Given the description of an element on the screen output the (x, y) to click on. 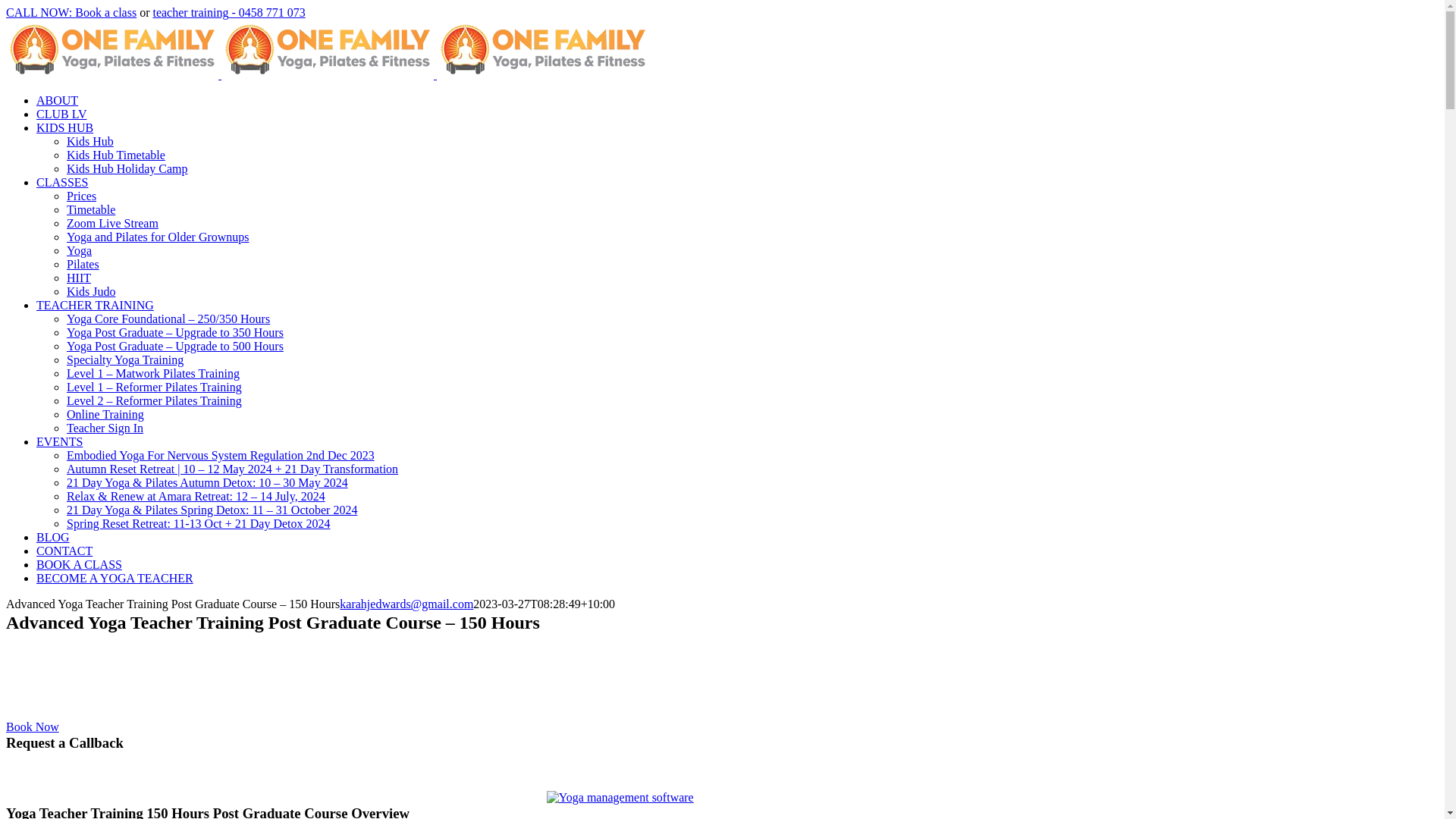
Kids Hub Timetable Element type: text (115, 154)
ABOUT Element type: text (57, 100)
Yoga Element type: text (78, 250)
Book Now Element type: text (32, 726)
Kids Hub Element type: text (89, 140)
Embodied Yoga For Nervous System Regulation 2nd Dec 2023 Element type: text (220, 454)
CLUB LV Element type: text (61, 113)
Book a class Element type: text (105, 12)
BECOME A YOGA TEACHER Element type: text (114, 577)
Teacher Sign In Element type: text (104, 427)
- 0458 771 073 Element type: text (266, 12)
CALL NOW: Element type: text (40, 12)
BOOK A CLASS Element type: text (79, 564)
CLASSES Element type: text (61, 181)
Timetable Element type: text (90, 209)
Skip to content Element type: text (5, 5)
Kids Hub Holiday Camp Element type: text (127, 168)
Spring Reset Retreat: 11-13 Oct + 21 Day Detox 2024 Element type: text (197, 523)
CONTACT Element type: text (64, 550)
Pilates Element type: text (82, 263)
Prices Element type: text (81, 195)
Yoga and Pilates for Older Grownups Element type: text (157, 236)
Kids Judo Element type: text (90, 291)
BLOG Element type: text (52, 536)
Zoom Live Stream Element type: text (112, 222)
EVENTS Element type: text (59, 441)
teacher training Element type: text (190, 12)
KIDS HUB Element type: text (64, 127)
Specialty Yoga Training Element type: text (124, 359)
karahjedwards@gmail.com Element type: text (406, 603)
Online Training Element type: text (105, 413)
HIIT Element type: text (78, 277)
TEACHER TRAINING Element type: text (94, 304)
